Given the description of an element on the screen output the (x, y) to click on. 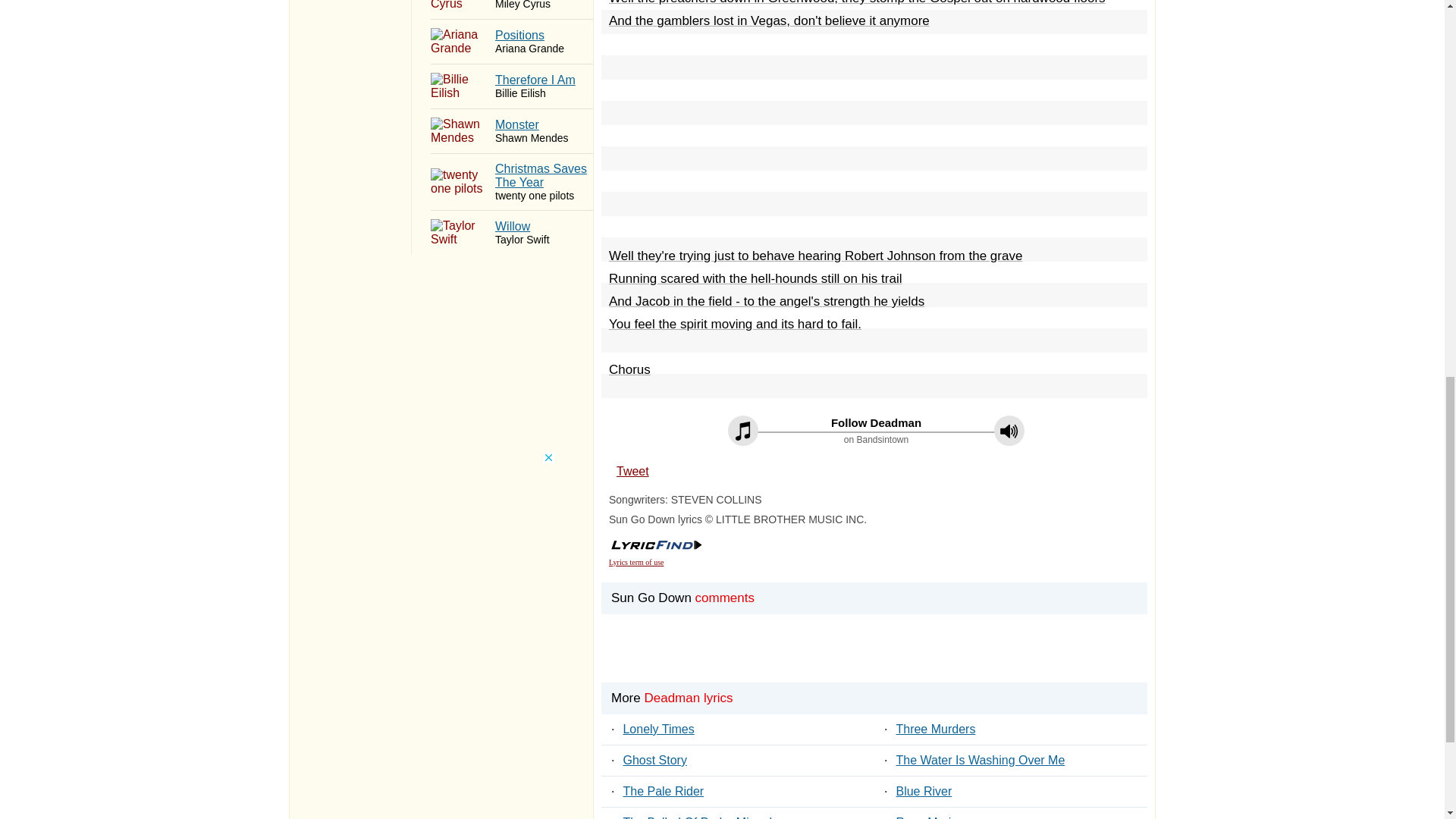
Lyrics term of use (511, 181)
Lonely Times lyrics (511, 41)
Tweet (635, 561)
Advertisement (511, 130)
3rd party ad content (743, 729)
